Given the description of an element on the screen output the (x, y) to click on. 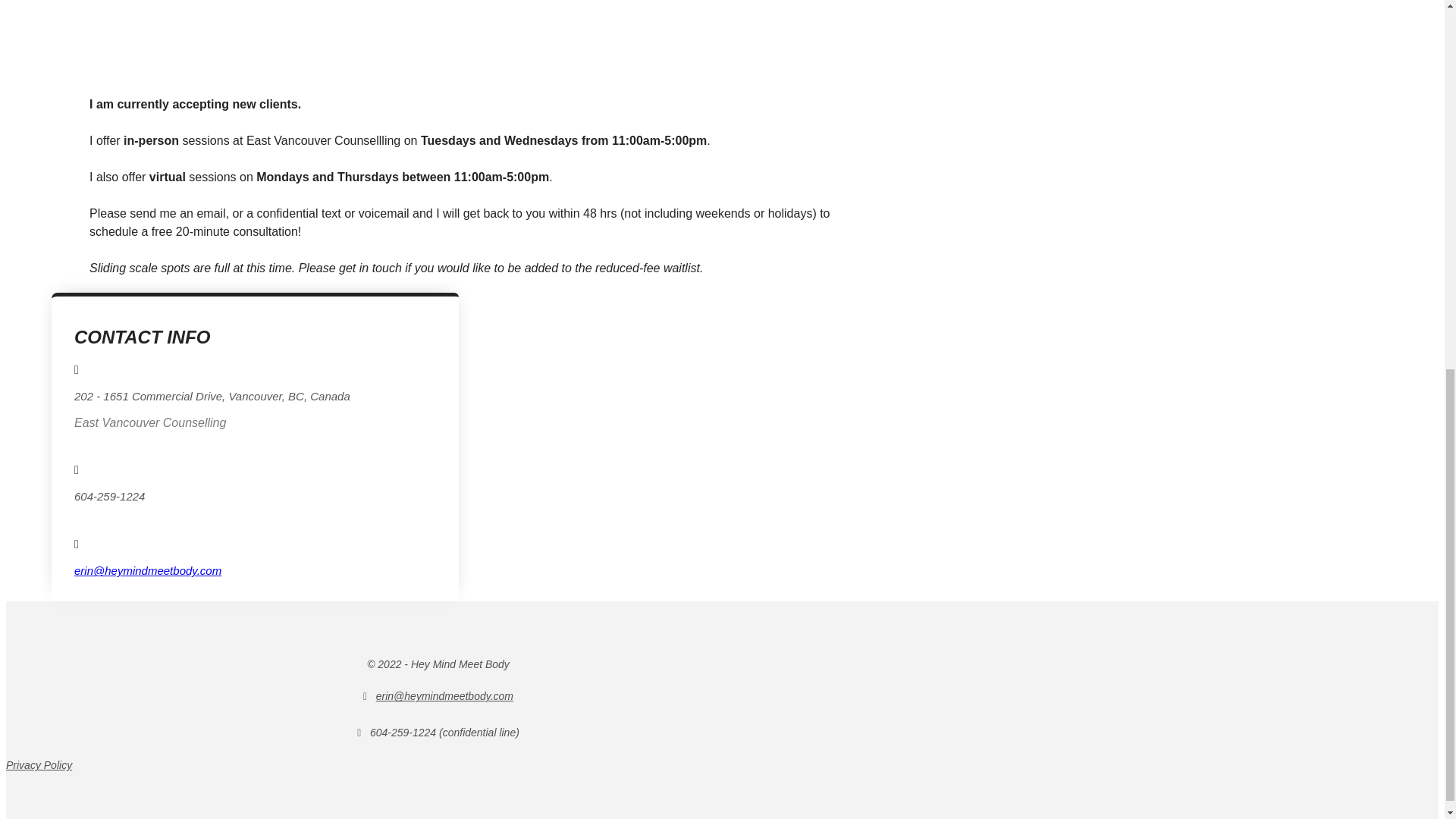
Privacy Policy (38, 765)
